Given the description of an element on the screen output the (x, y) to click on. 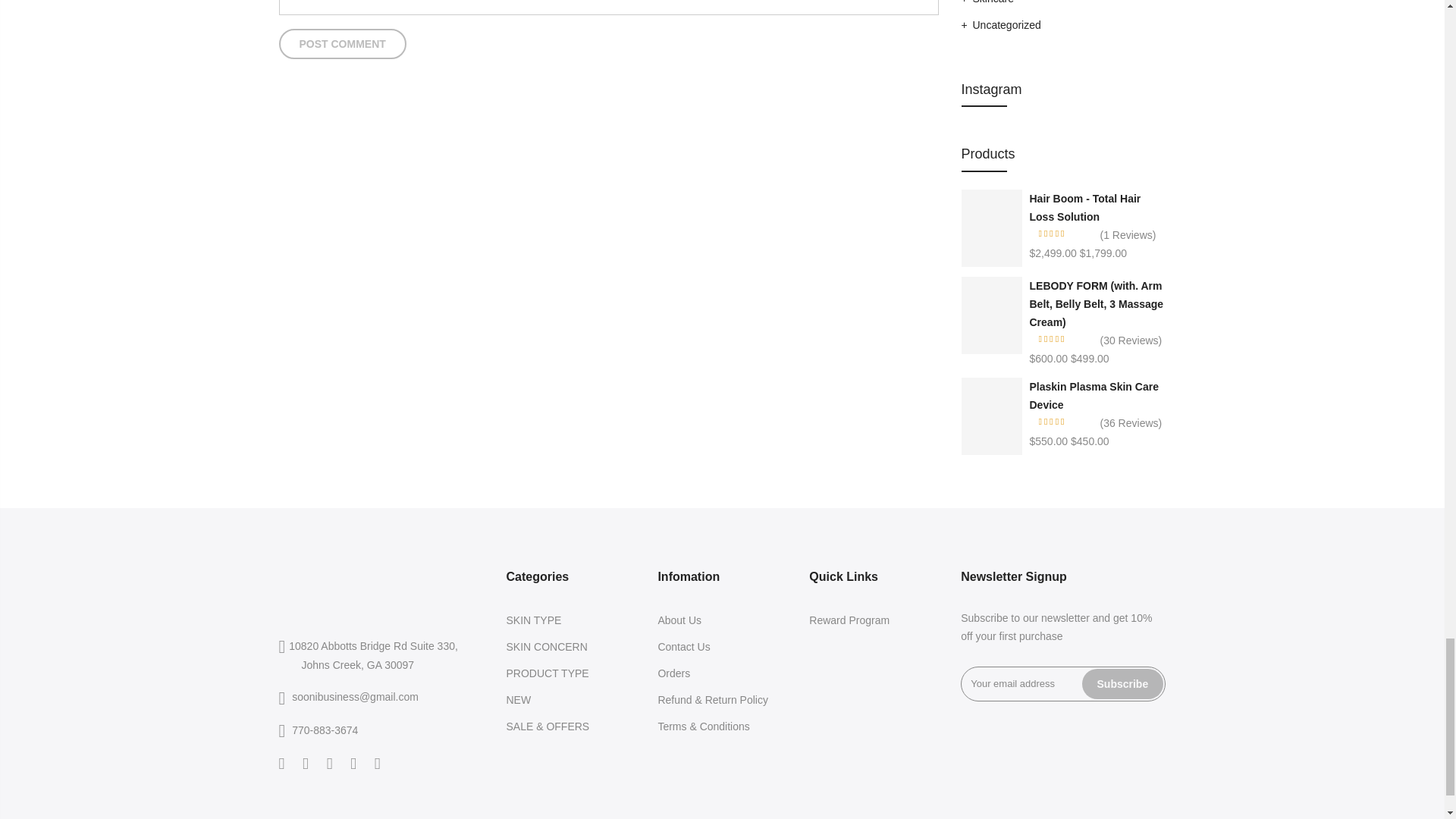
Post Comment (342, 43)
